Given the description of an element on the screen output the (x, y) to click on. 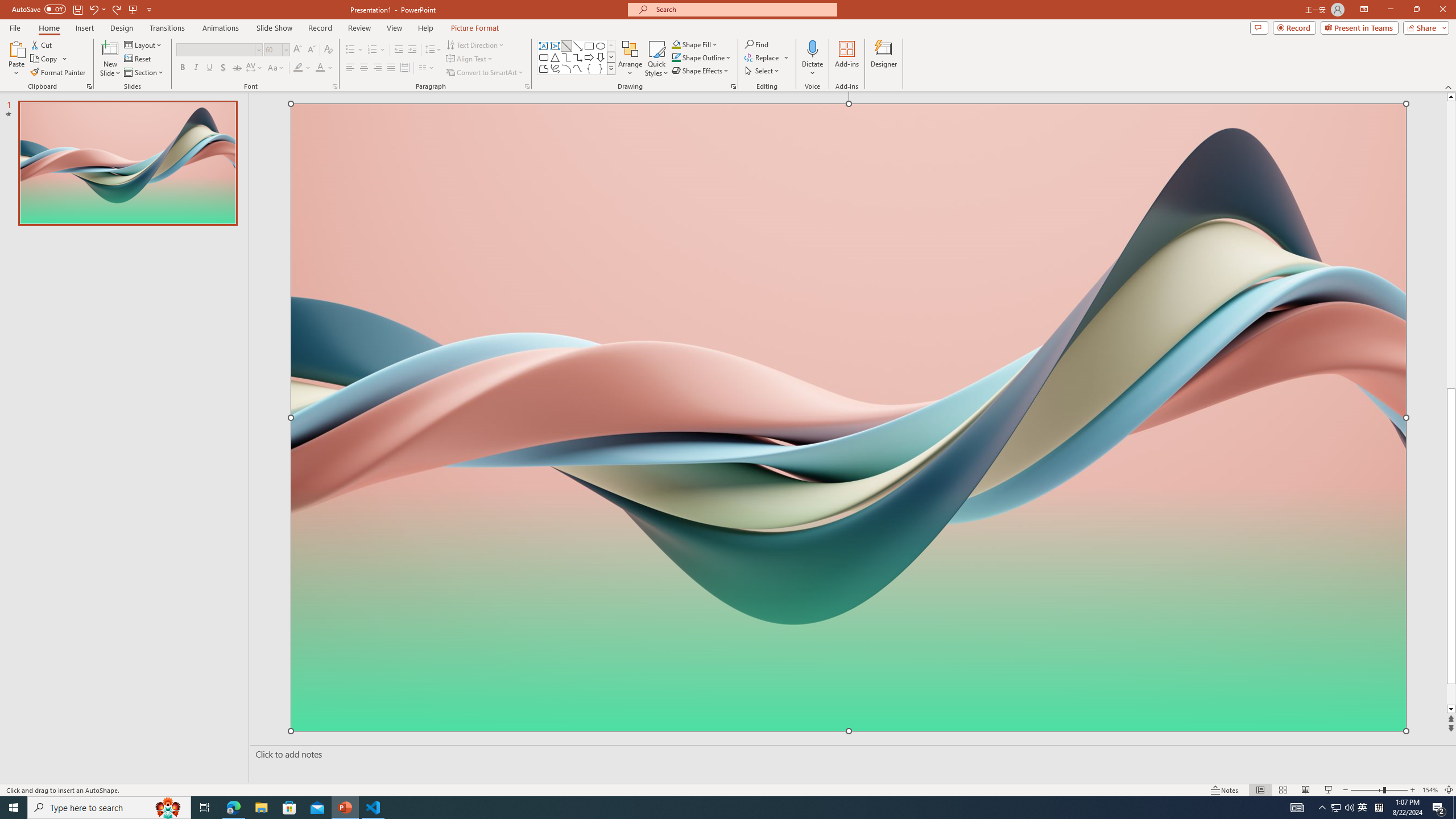
Picture Format (475, 28)
